Given the description of an element on the screen output the (x, y) to click on. 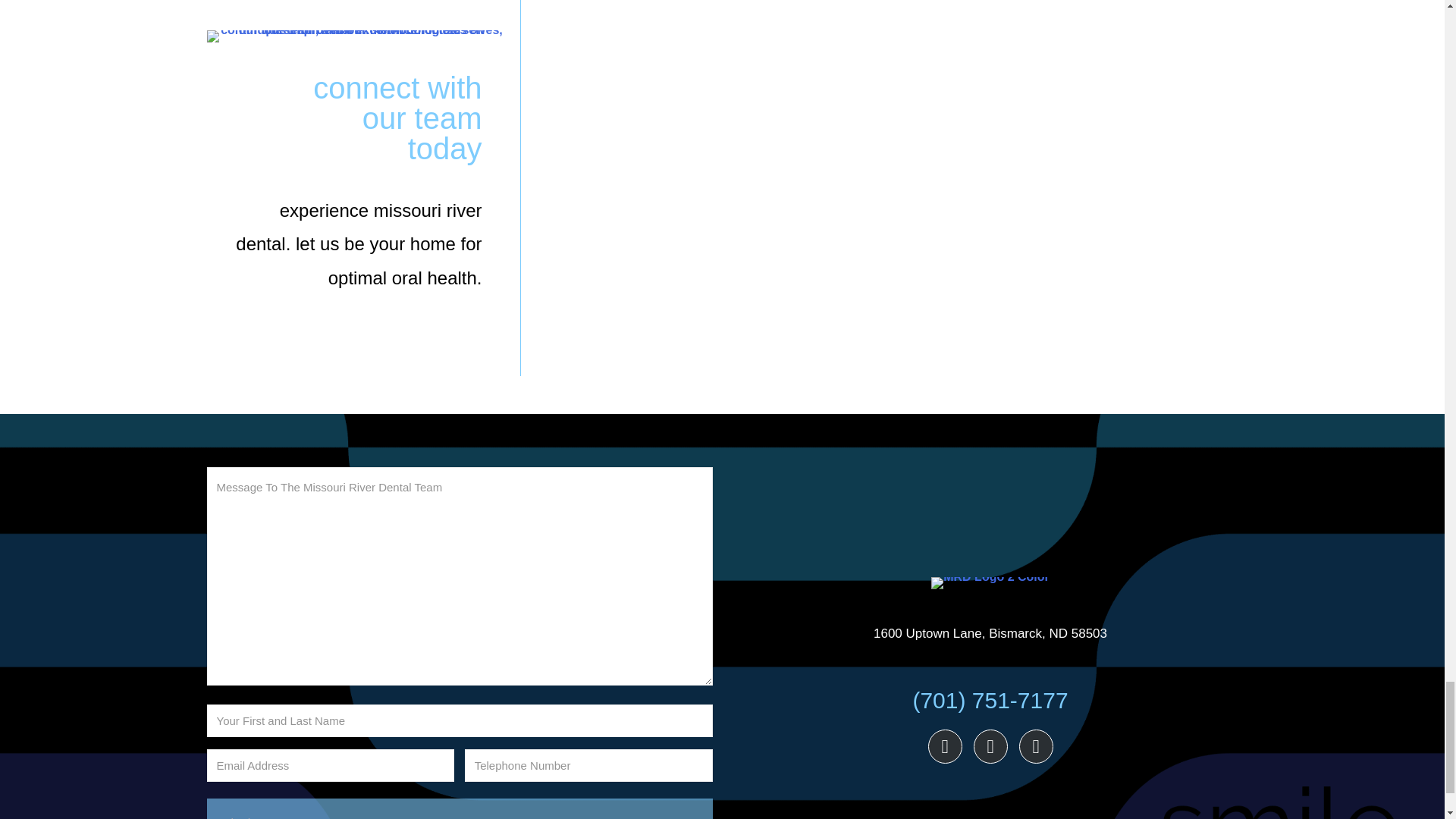
MRD Logo 2 Color (990, 582)
Submit (458, 808)
